Given the description of an element on the screen output the (x, y) to click on. 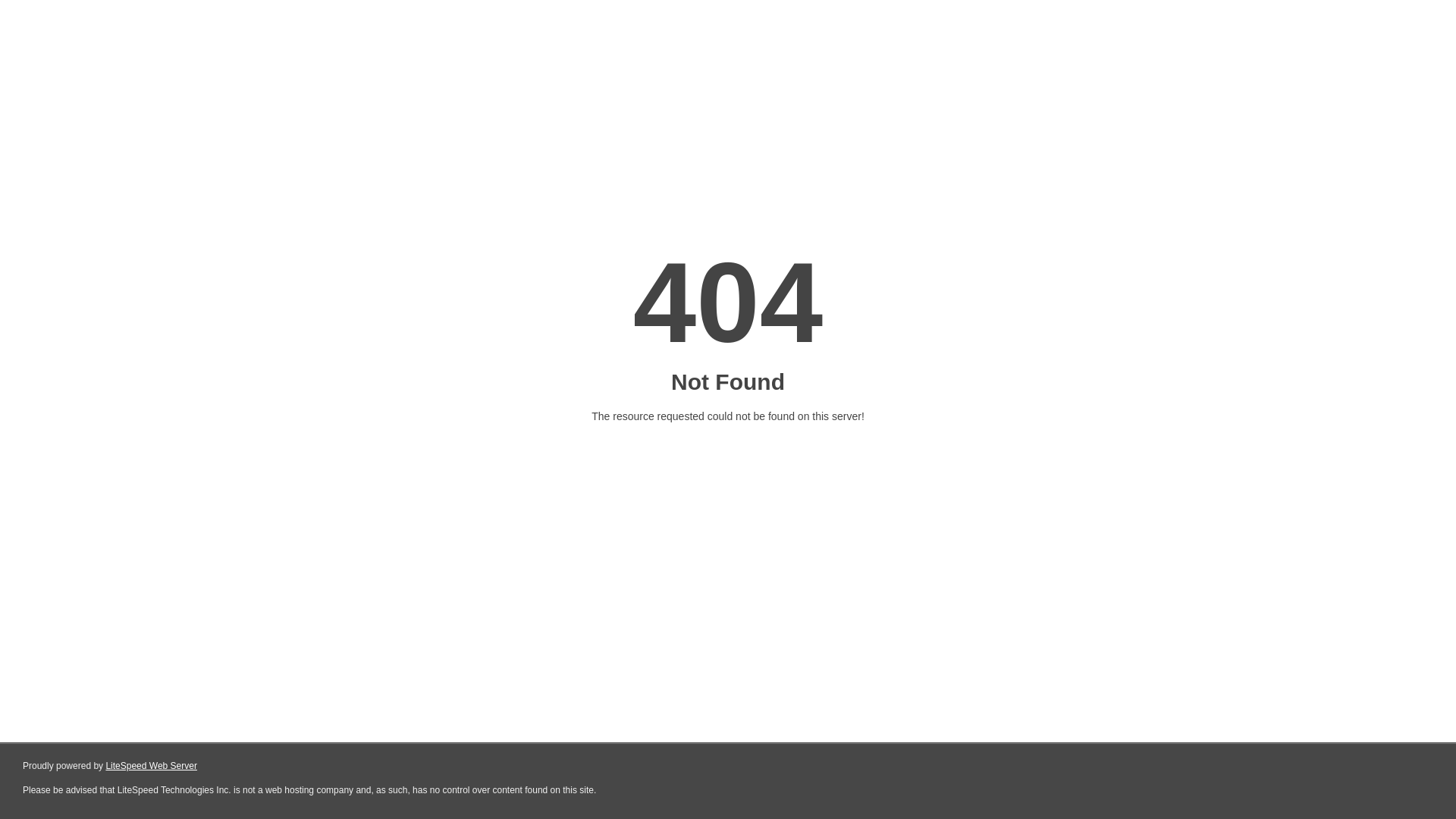
LiteSpeed Web Server Element type: text (151, 765)
